Given the description of an element on the screen output the (x, y) to click on. 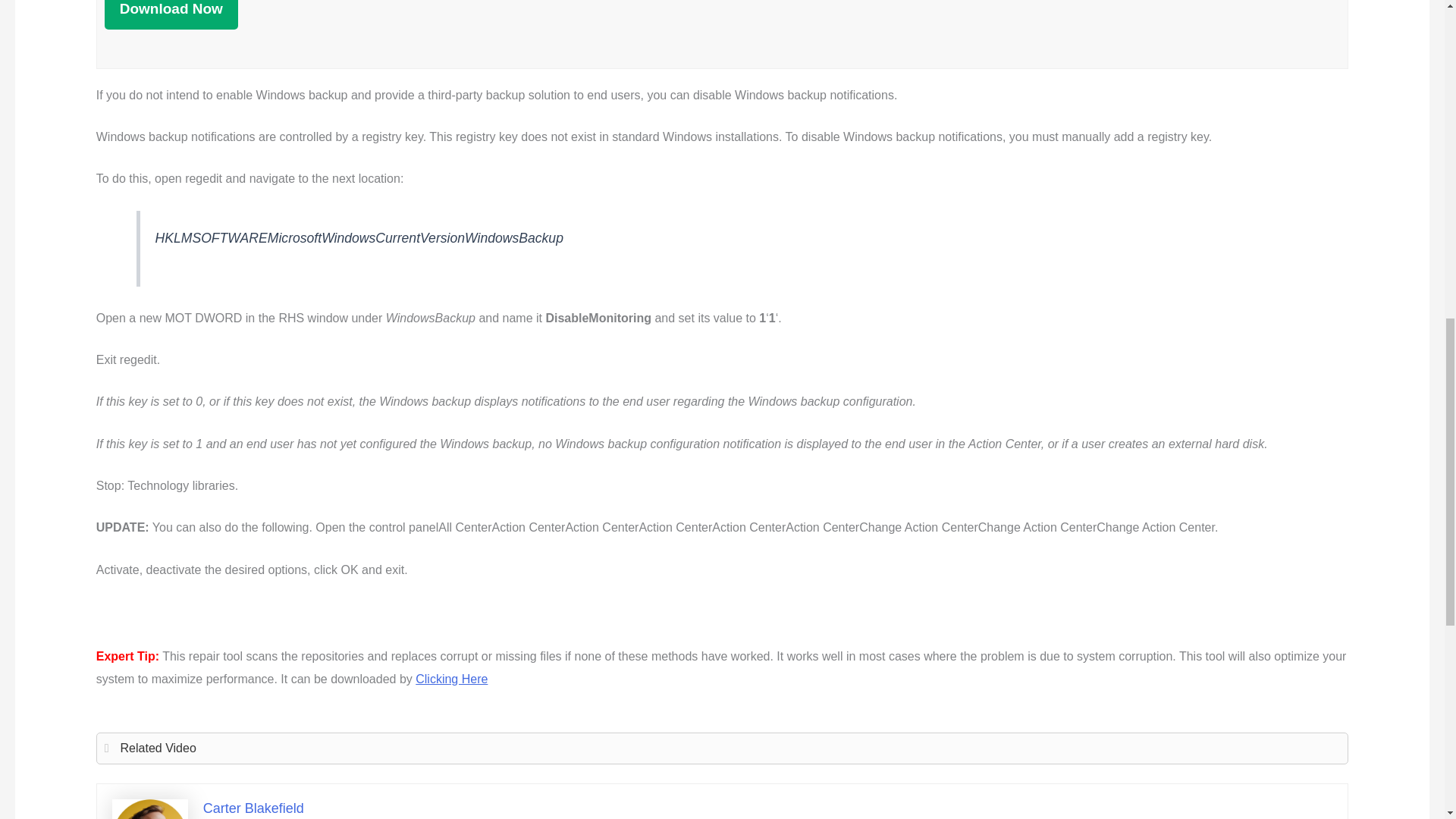
Carter Blakefield (253, 807)
Clicking Here (450, 678)
Download Now (171, 14)
